Given the description of an element on the screen output the (x, y) to click on. 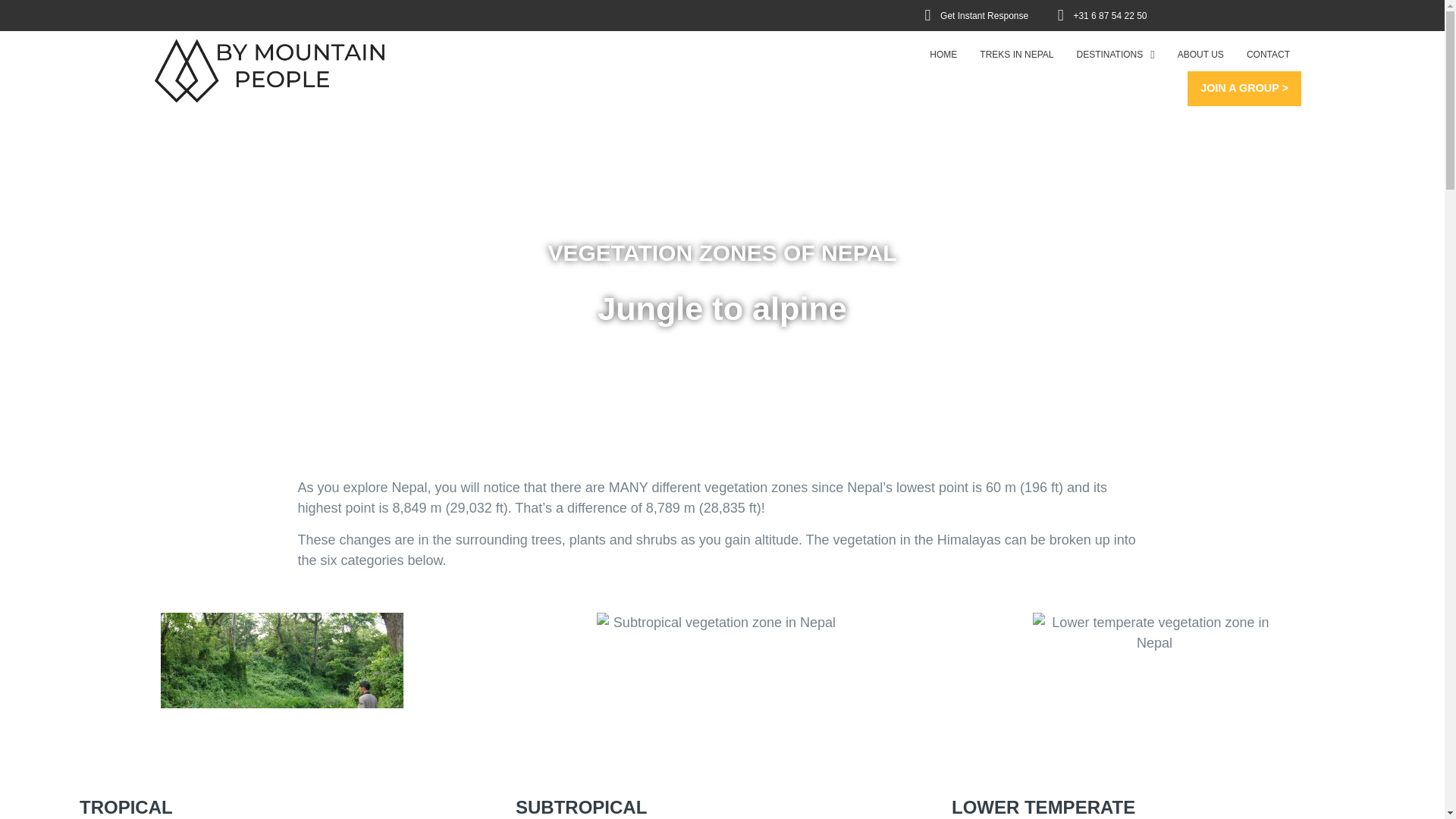
DESTINATIONS (1115, 54)
Get Instant Response (969, 15)
TREKS IN NEPAL (1016, 54)
HOME (943, 54)
ABOUT US (1200, 54)
CONTACT (1267, 54)
